Given the description of an element on the screen output the (x, y) to click on. 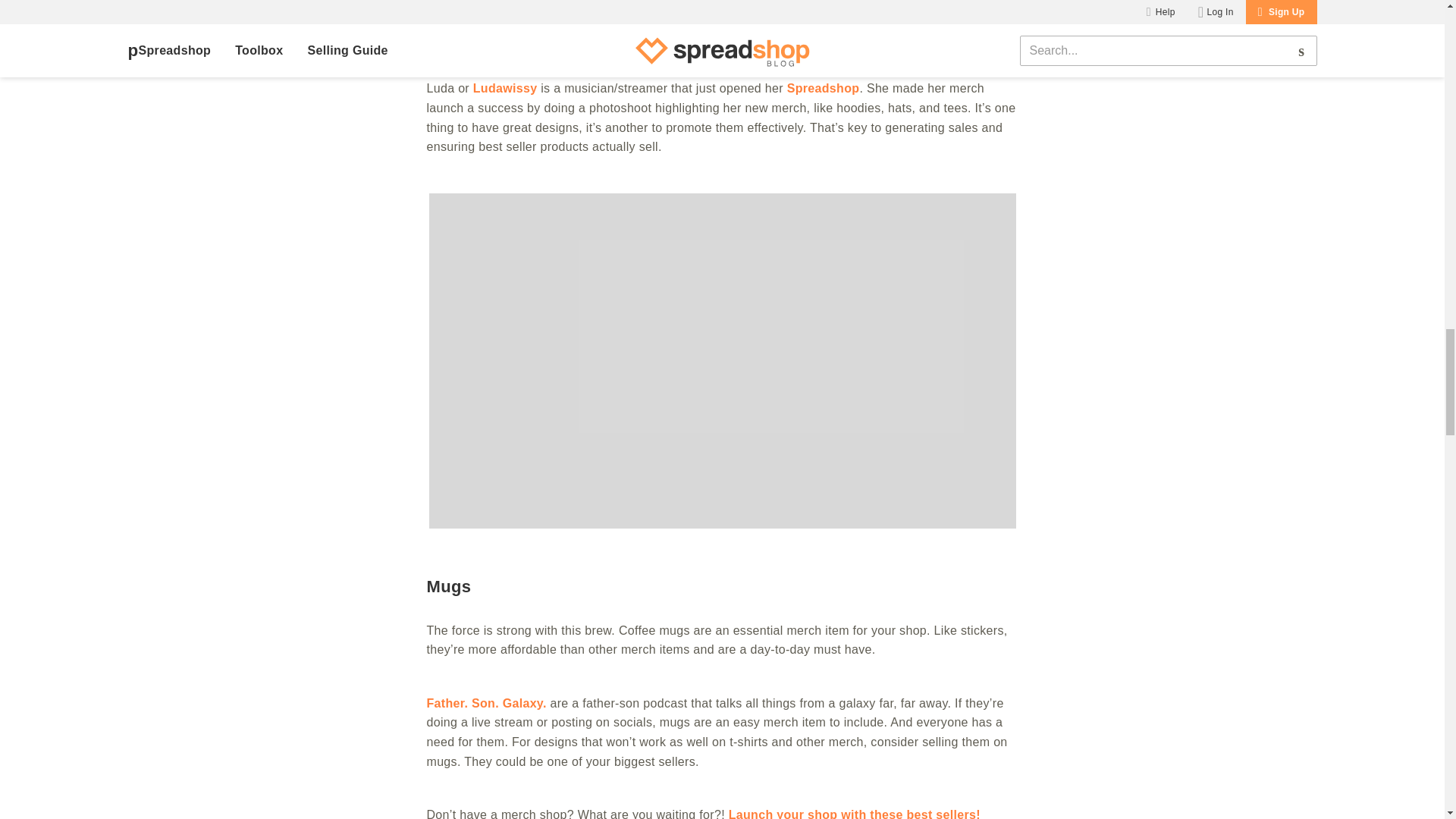
Ludawissy (505, 88)
Father. Son. Galaxy. (486, 703)
Launch your shop with these best sellers! (854, 813)
Spreadshop (823, 88)
